Given the description of an element on the screen output the (x, y) to click on. 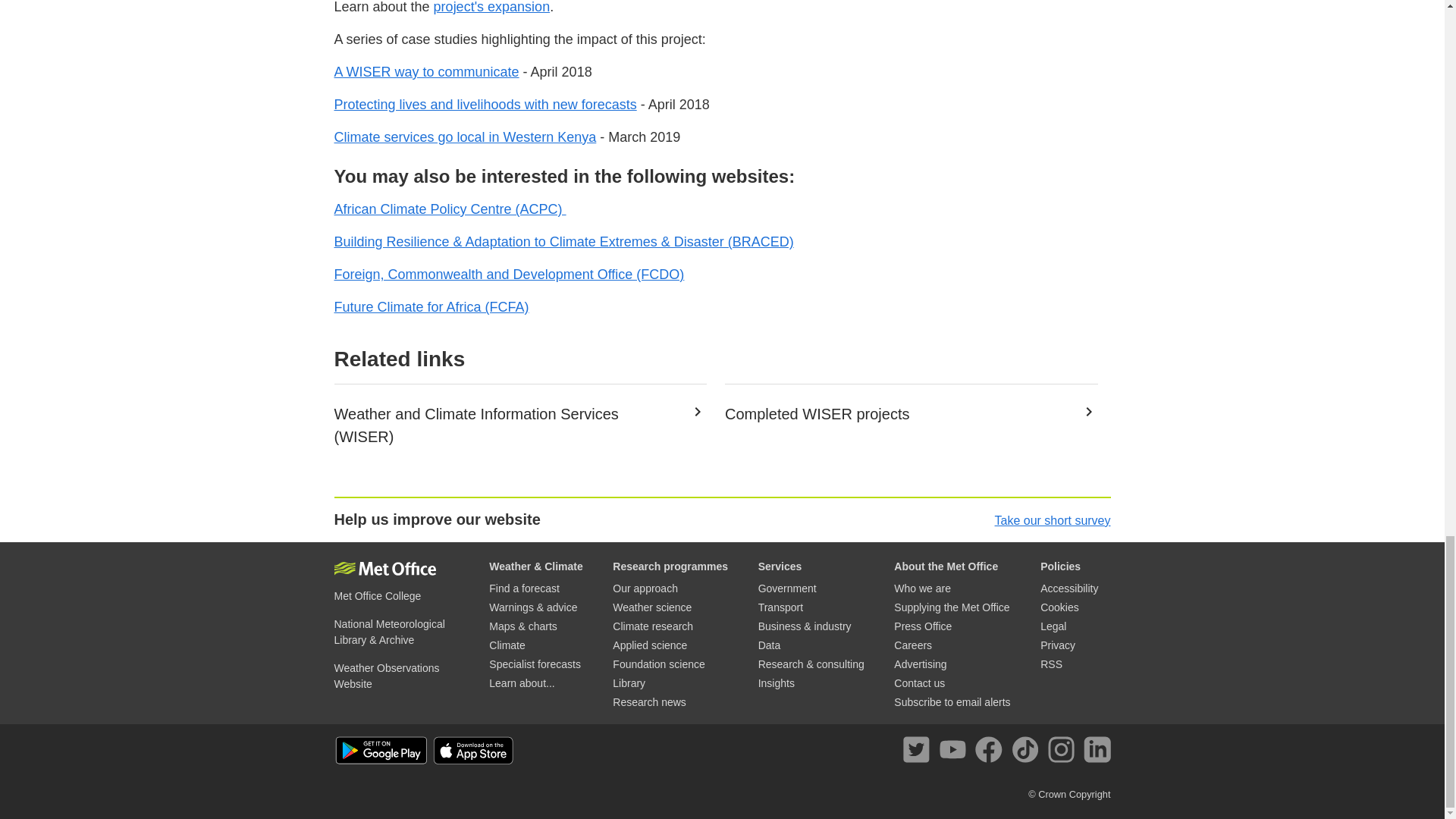
Follow us on Twitter (919, 752)
Follow us on Facebook (991, 752)
Follow us on Instagram (1064, 752)
Follow us on TikTok (1027, 752)
Follow us on Youtube (955, 752)
